Given the description of an element on the screen output the (x, y) to click on. 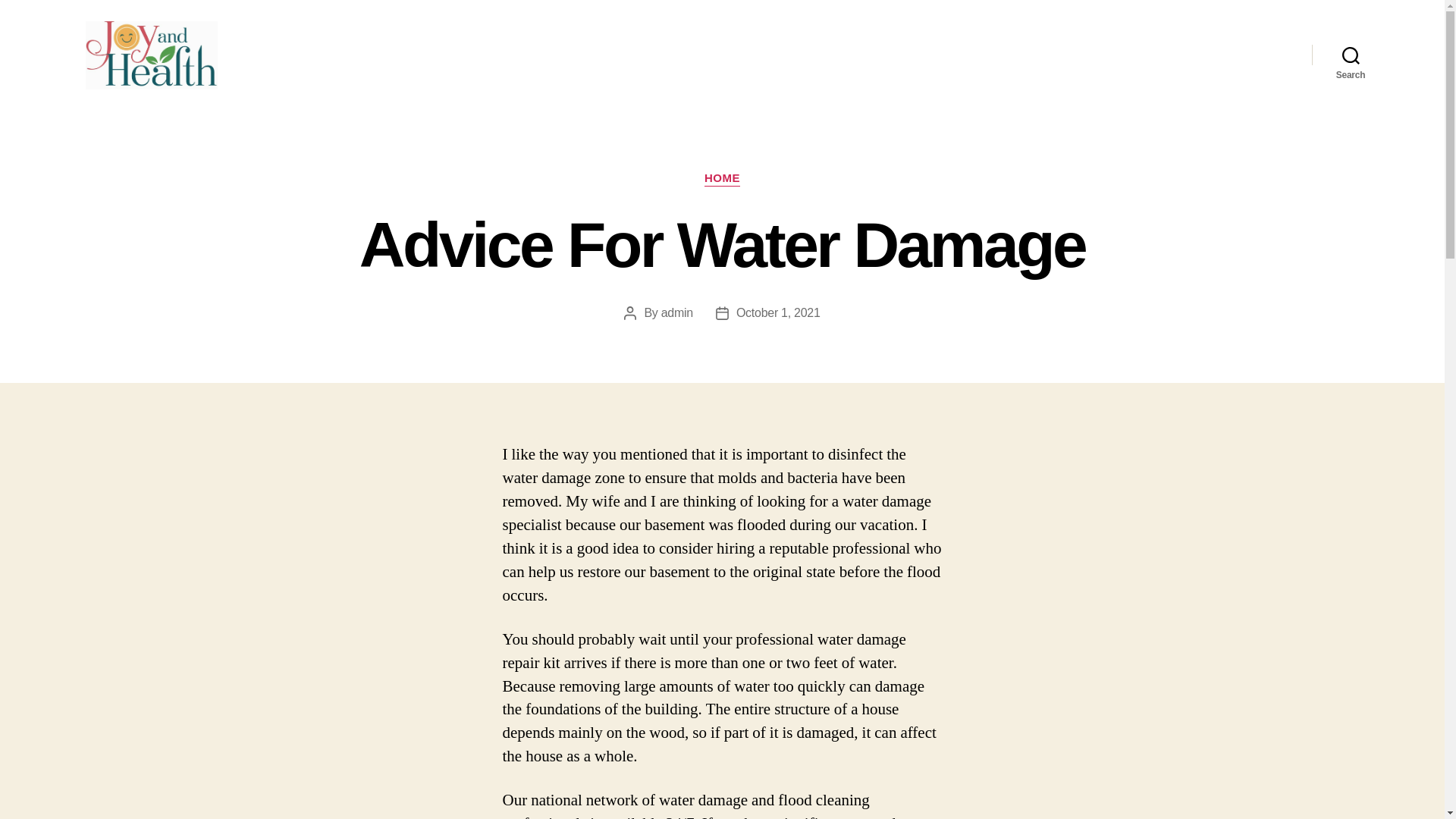
Search (1350, 55)
October 1, 2021 (778, 312)
HOME (721, 178)
admin (677, 312)
